Given the description of an element on the screen output the (x, y) to click on. 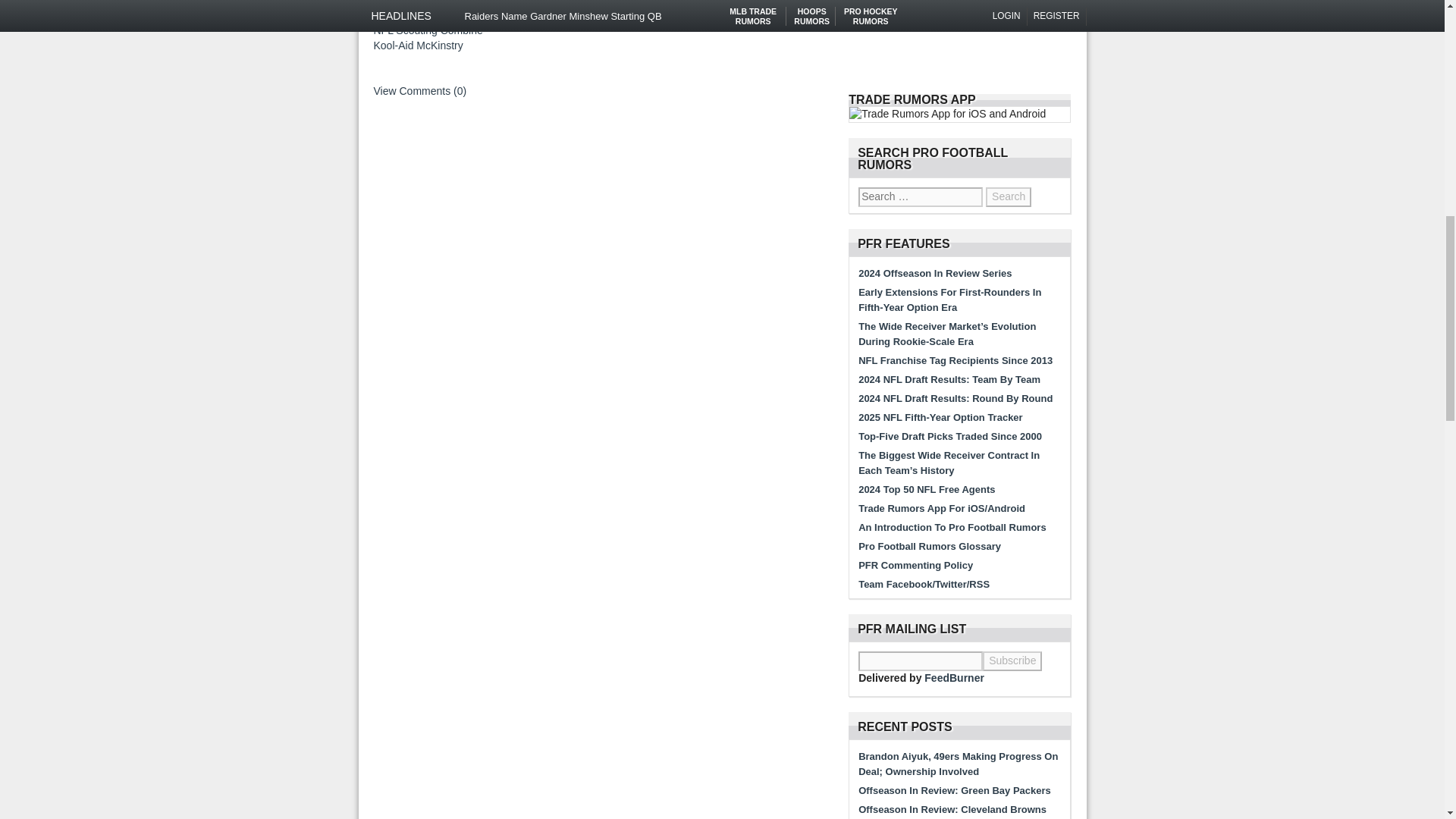
View all posts in NFL Scouting Combine (426, 30)
View all posts in 2024 NFL Draft (408, 15)
Subscribe (1012, 660)
View all posts in Kool-Aid McKinstry (417, 45)
Search for: (920, 197)
Search (1007, 197)
